Given the description of an element on the screen output the (x, y) to click on. 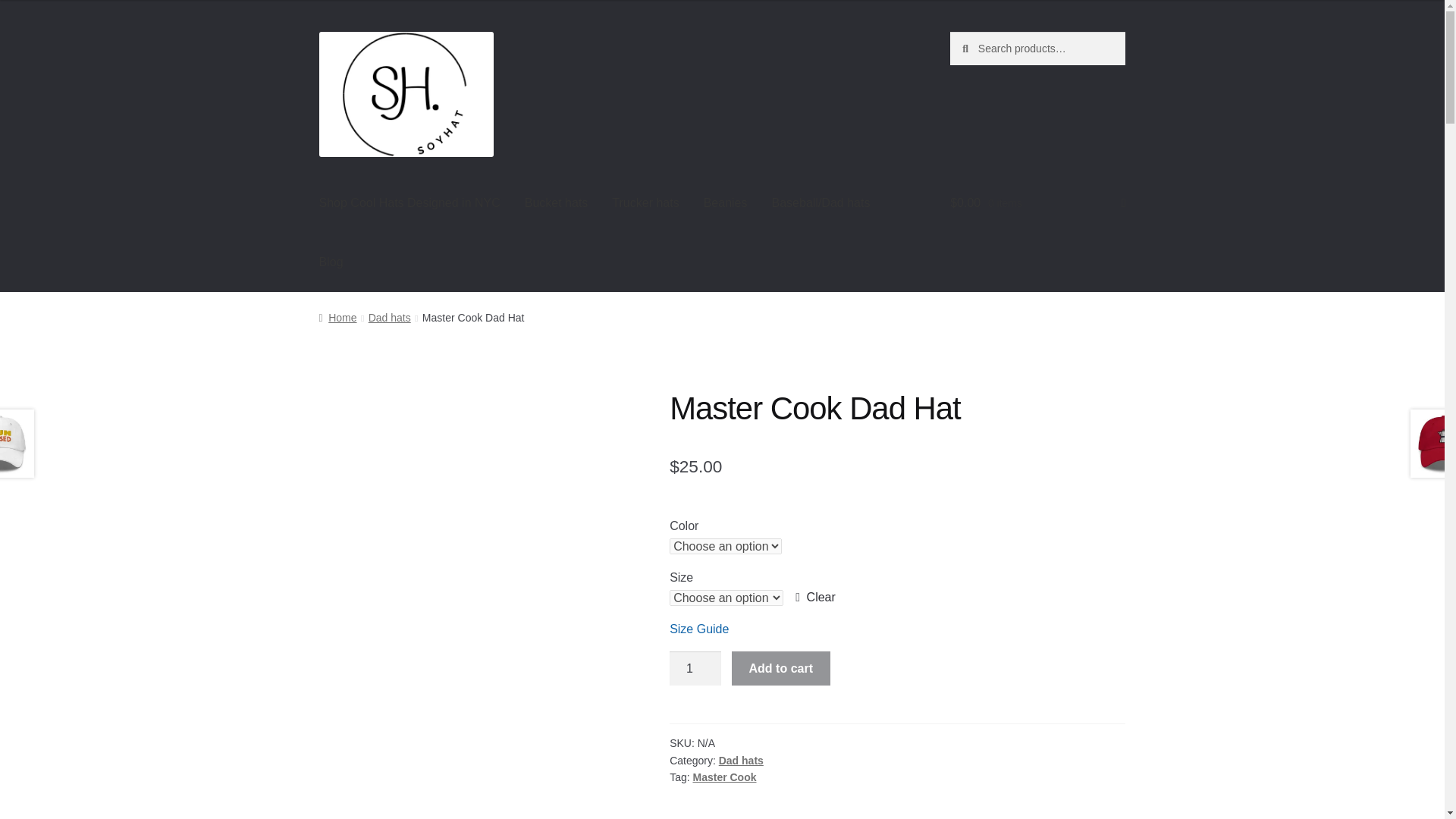
Home (337, 317)
Add to cart (780, 668)
Bucket hats (555, 202)
Size Guide (699, 628)
Trucker hats (644, 202)
Shop Cool Hats Designed in NYC (409, 202)
Dad hats (389, 317)
1 (694, 668)
Clear (814, 597)
